Given the description of an element on the screen output the (x, y) to click on. 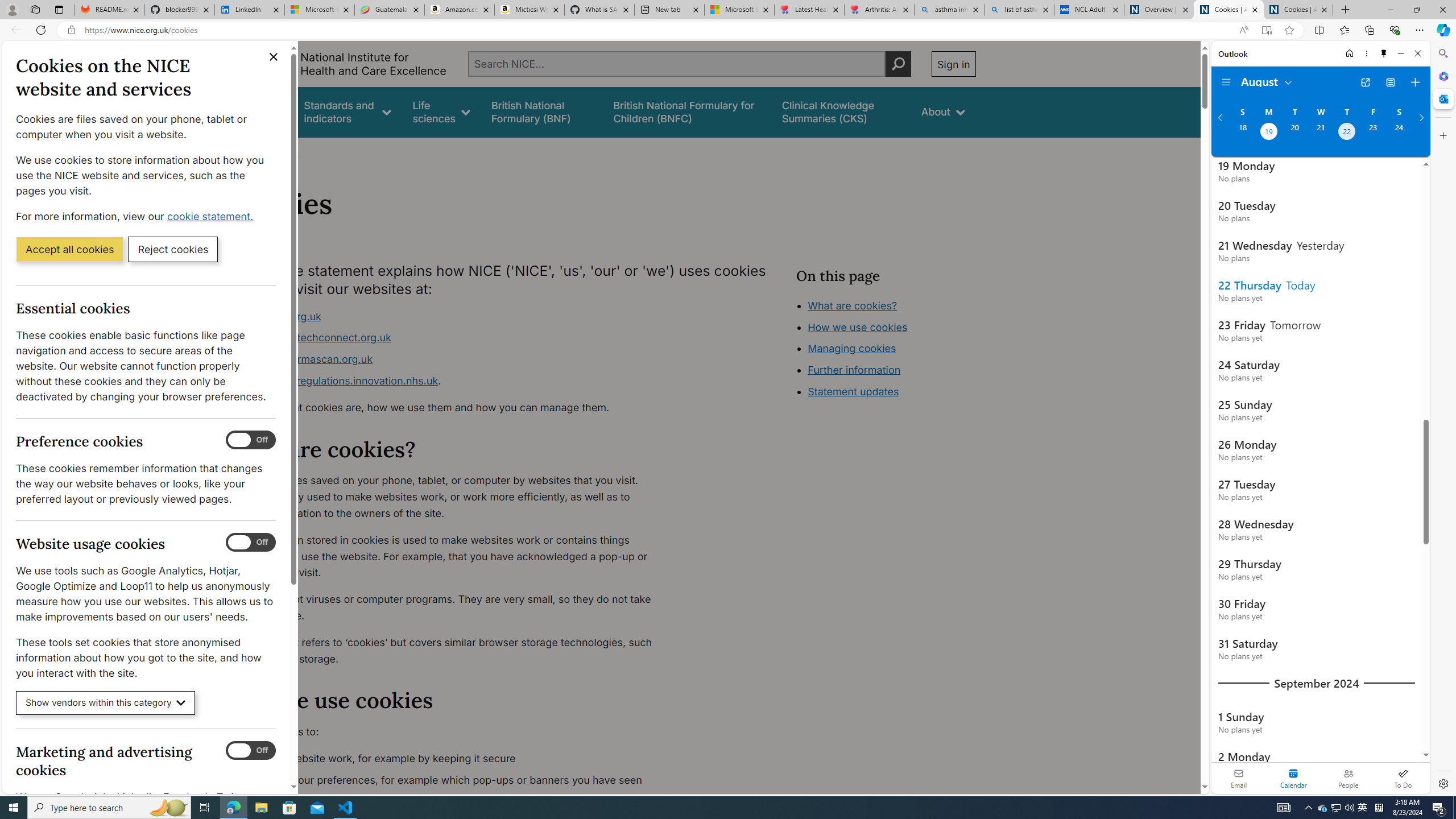
Further information (854, 369)
Close cookie banner (273, 56)
false (841, 111)
www.ukpharmascan.org.uk (452, 359)
Thursday, August 22, 2024. Today.  (1346, 132)
